Given the description of an element on the screen output the (x, y) to click on. 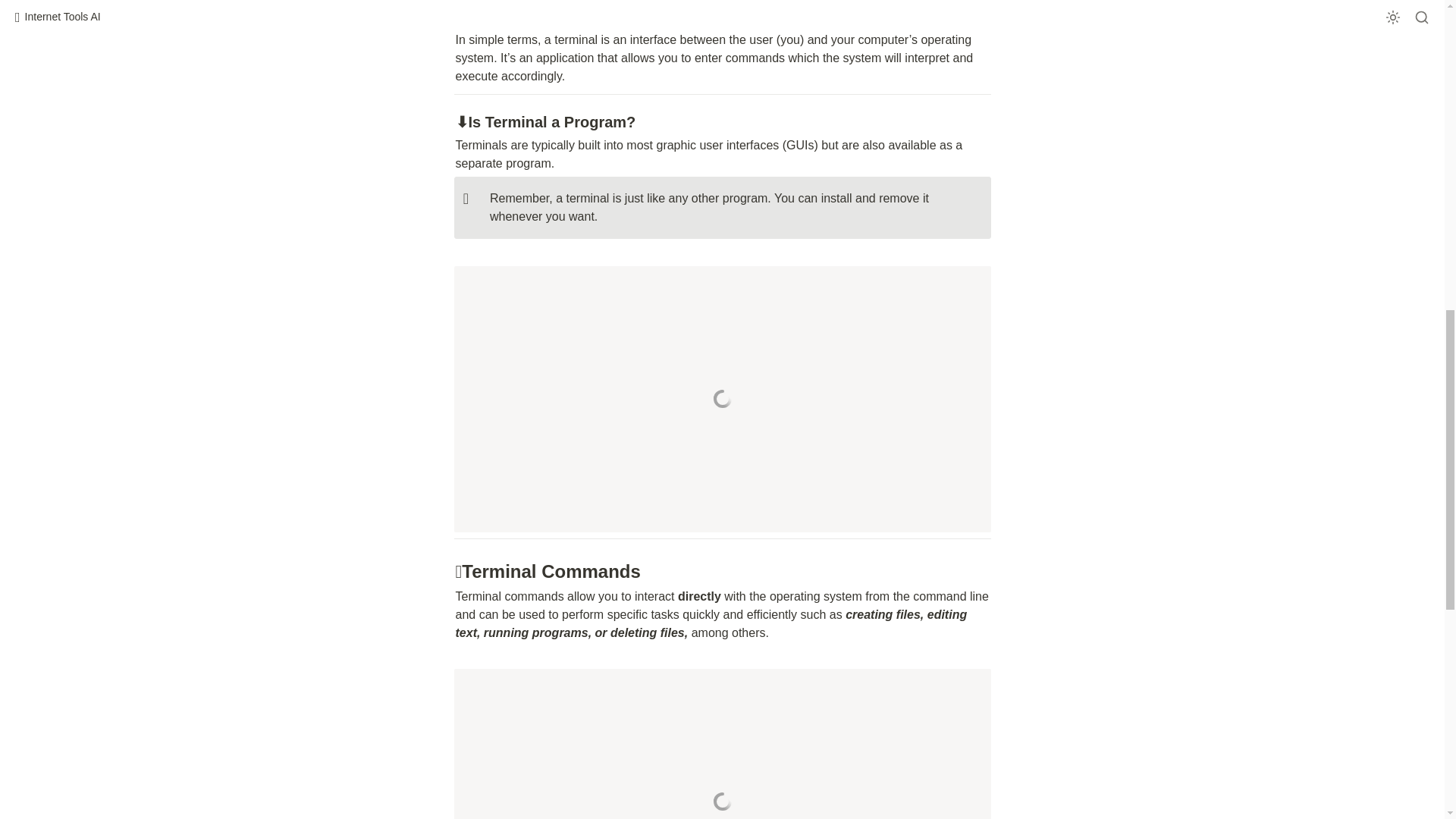
www.youtube.com (721, 744)
www.youtube.com (721, 399)
